Given the description of an element on the screen output the (x, y) to click on. 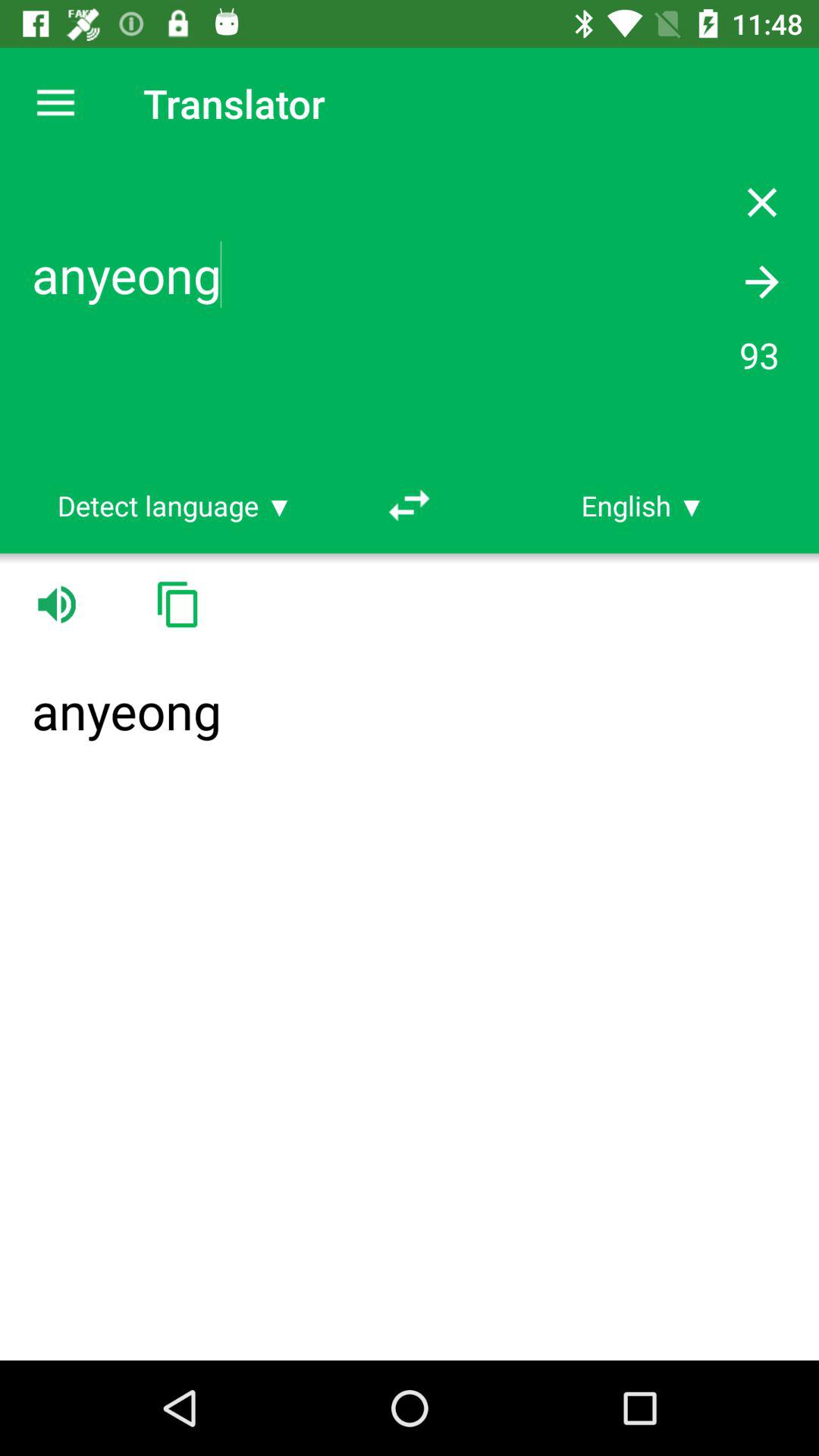
tap the item below the anyeong (643, 505)
